Given the description of an element on the screen output the (x, y) to click on. 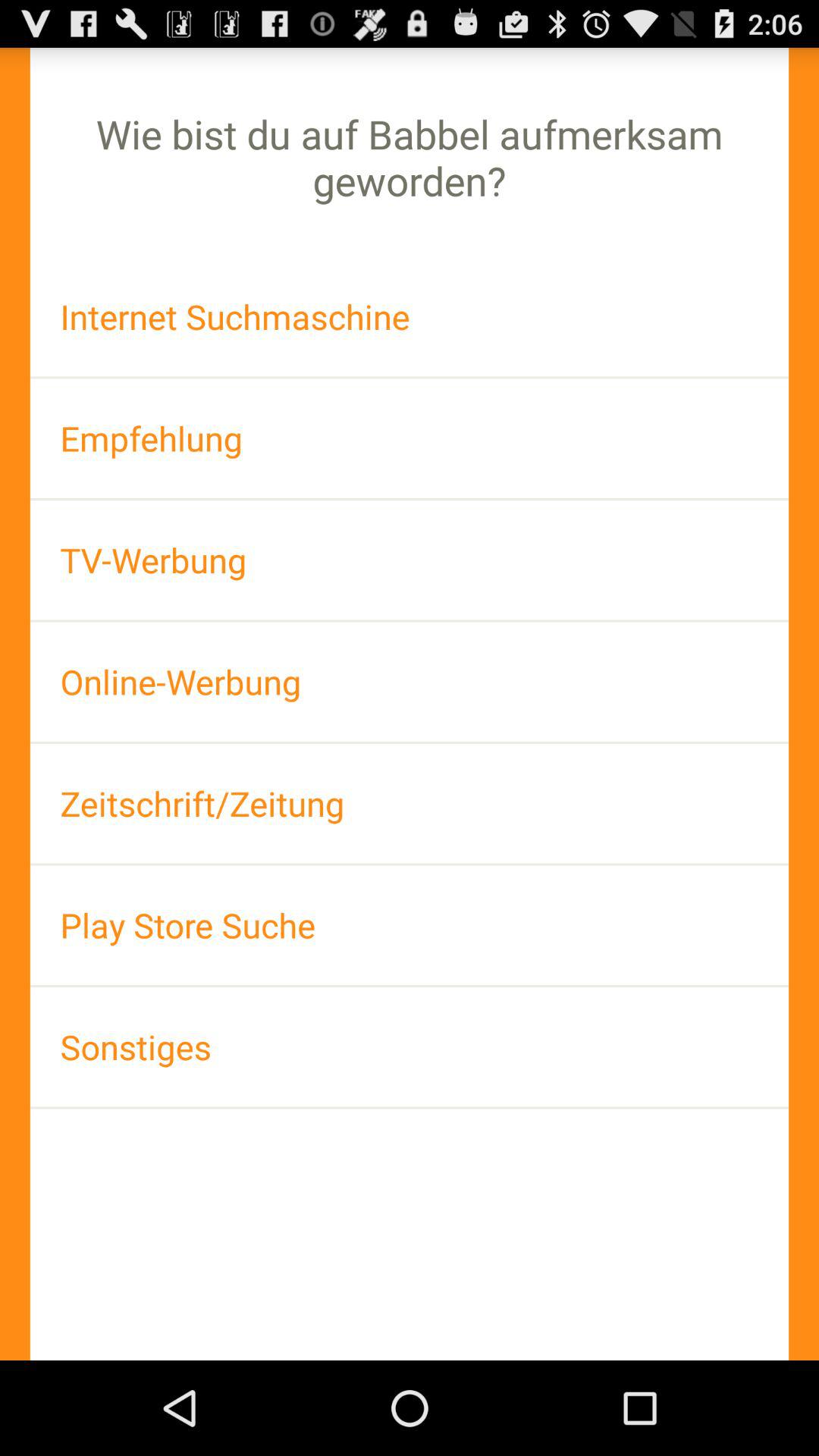
turn on item at the bottom (409, 1046)
